Given the description of an element on the screen output the (x, y) to click on. 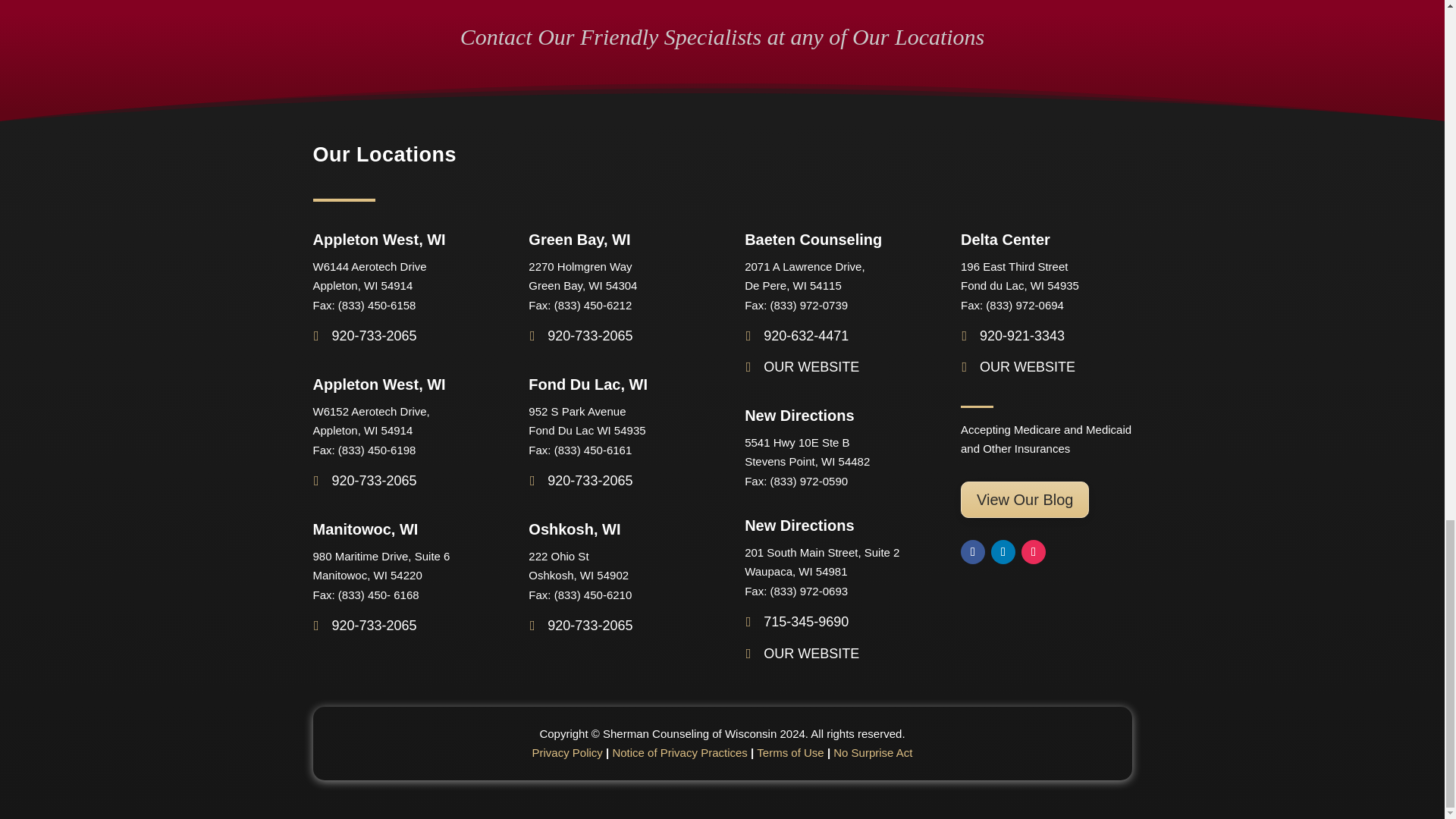
Follow on LinkedIn (1002, 551)
920-733-2065 (579, 625)
Follow on Instagram (1033, 551)
920-733-2065 (579, 481)
Follow on Facebook (972, 551)
920-733-2065 (364, 481)
920-632-4471 (796, 336)
920-733-2065 (579, 336)
920-733-2065 (364, 625)
920-733-2065 (364, 336)
